Given the description of an element on the screen output the (x, y) to click on. 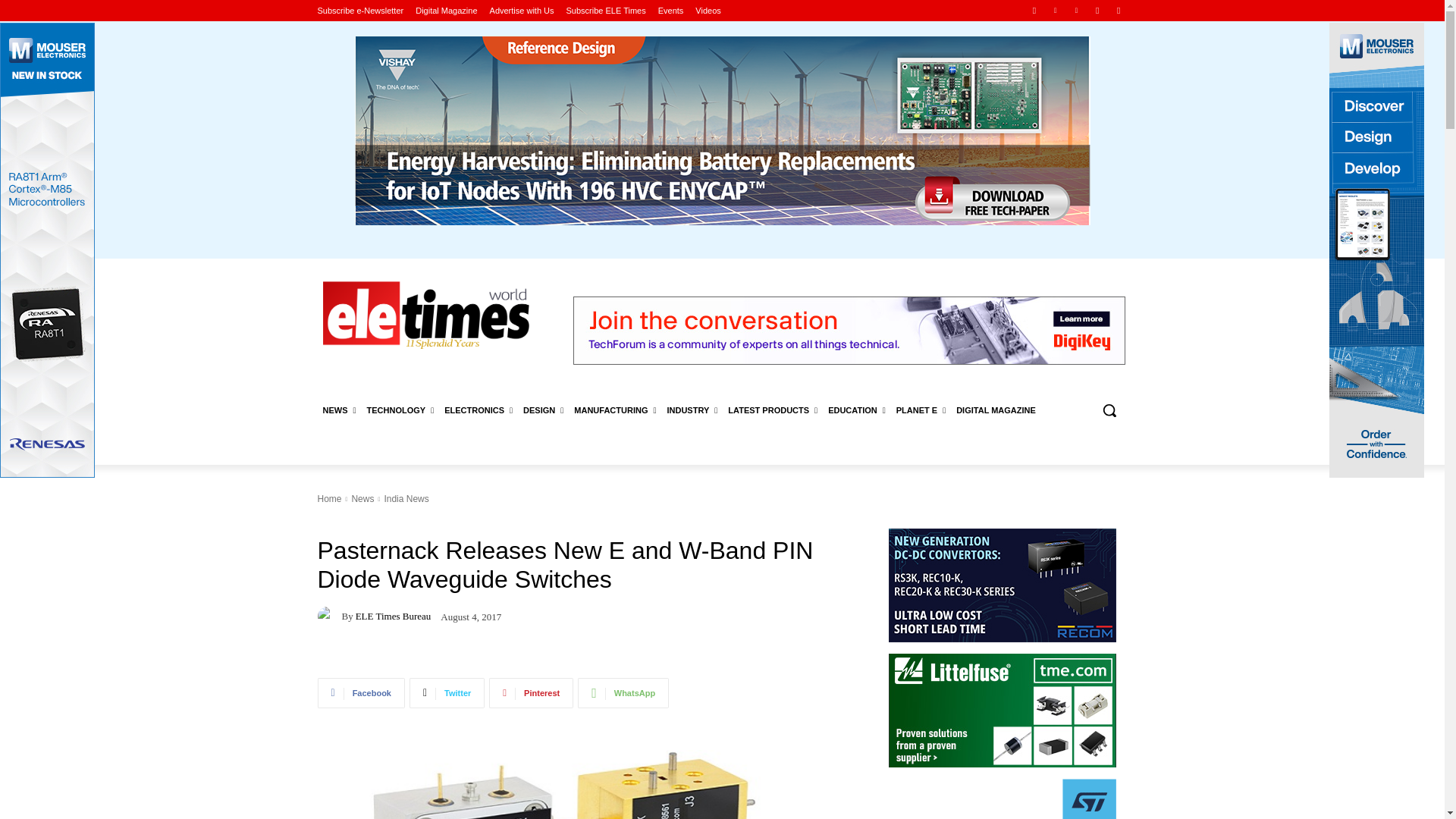
Linkedin (1055, 9)
Twitter (1117, 9)
Pinterest (1075, 9)
Tumblr (1097, 9)
Facebook (1034, 9)
